Given the description of an element on the screen output the (x, y) to click on. 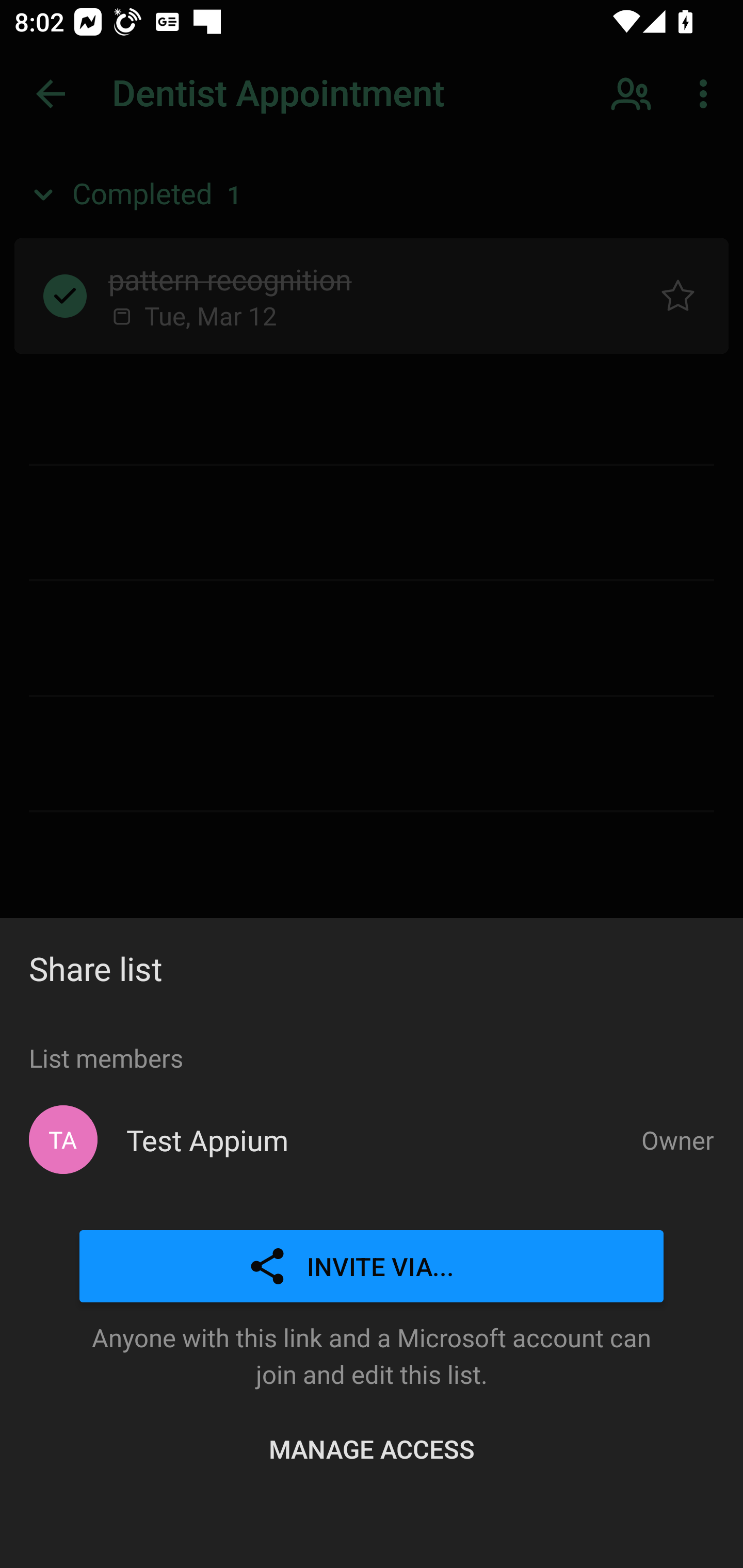
INVITE VIA... (371, 1266)
MANAGE ACCESS (371, 1448)
